Given the description of an element on the screen output the (x, y) to click on. 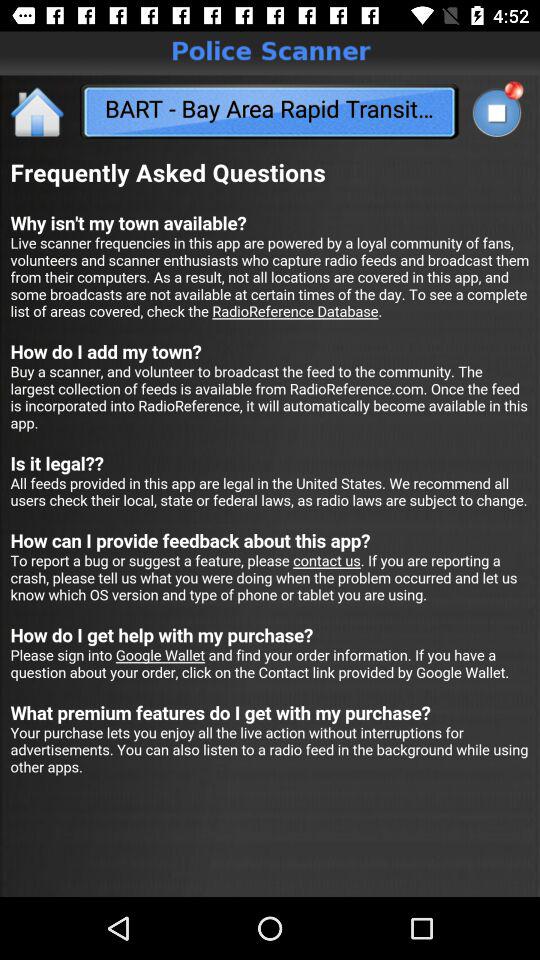
home page icon (38, 111)
